Given the description of an element on the screen output the (x, y) to click on. 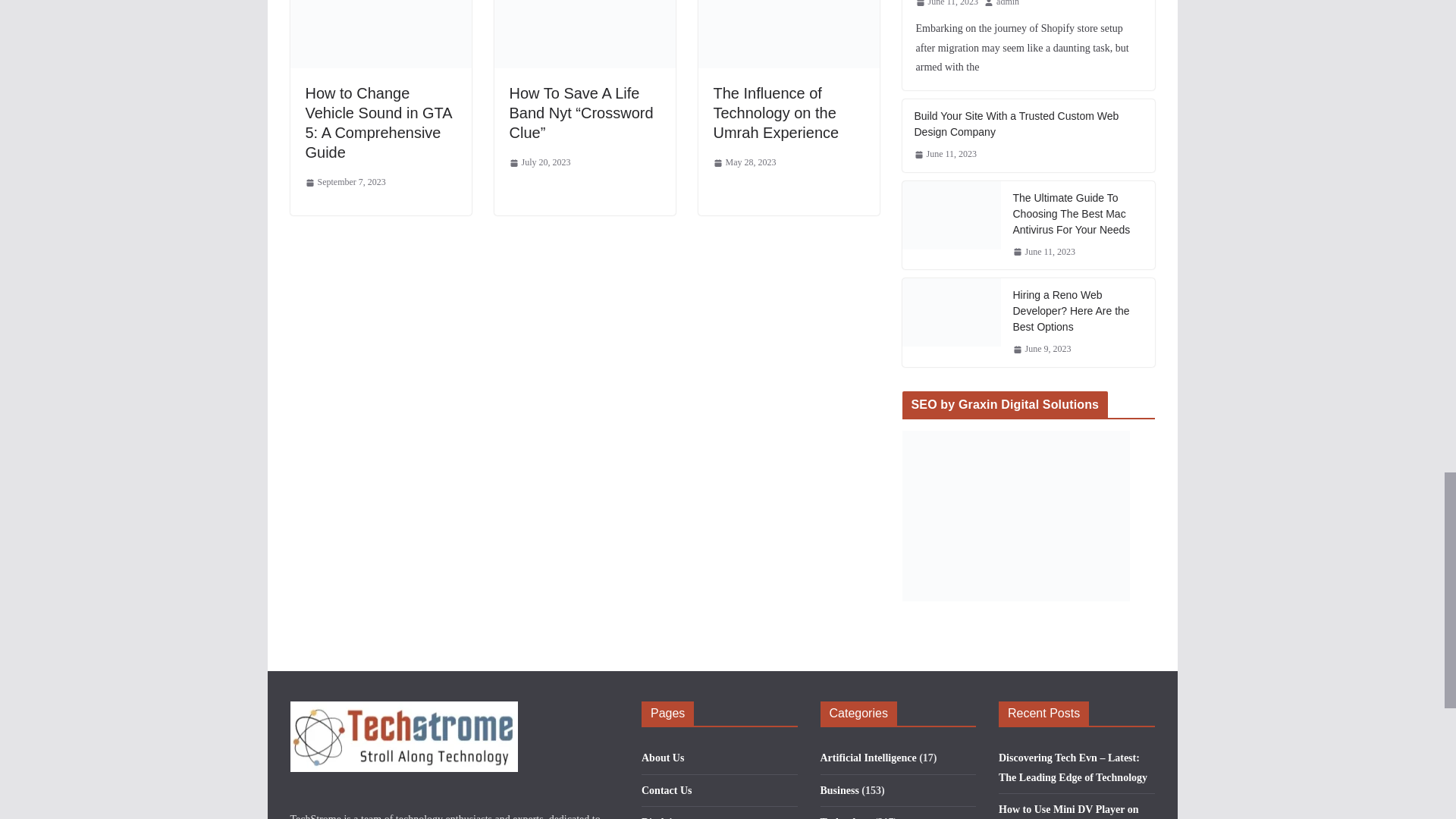
How to Change Vehicle Sound in GTA 5: A Comprehensive Guide (377, 122)
July 20, 2023 (539, 162)
The Influence of Technology on the Umrah Experience (775, 112)
8:04 pm (344, 182)
12:42 am (744, 162)
September 7, 2023 (344, 182)
The Influence of Technology on the Umrah Experience (775, 112)
9:49 pm (539, 162)
How to Change Vehicle Sound in GTA 5: A Comprehensive Guide (377, 122)
May 28, 2023 (744, 162)
